Given the description of an element on the screen output the (x, y) to click on. 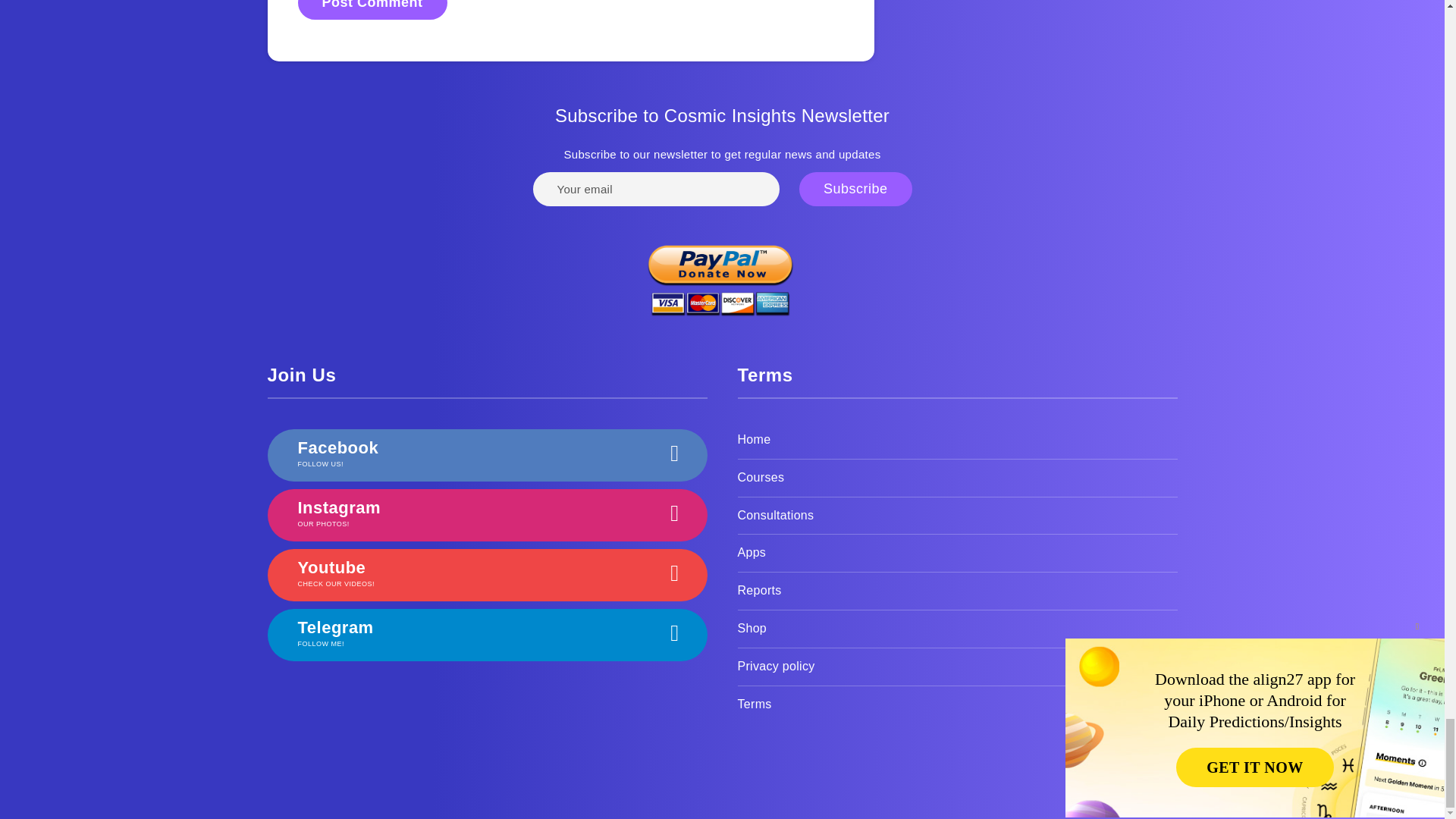
Subscribe (855, 188)
Your email (655, 188)
Post Comment (371, 9)
PayPal - The safer, easier way to pay online! (720, 273)
